Given the description of an element on the screen output the (x, y) to click on. 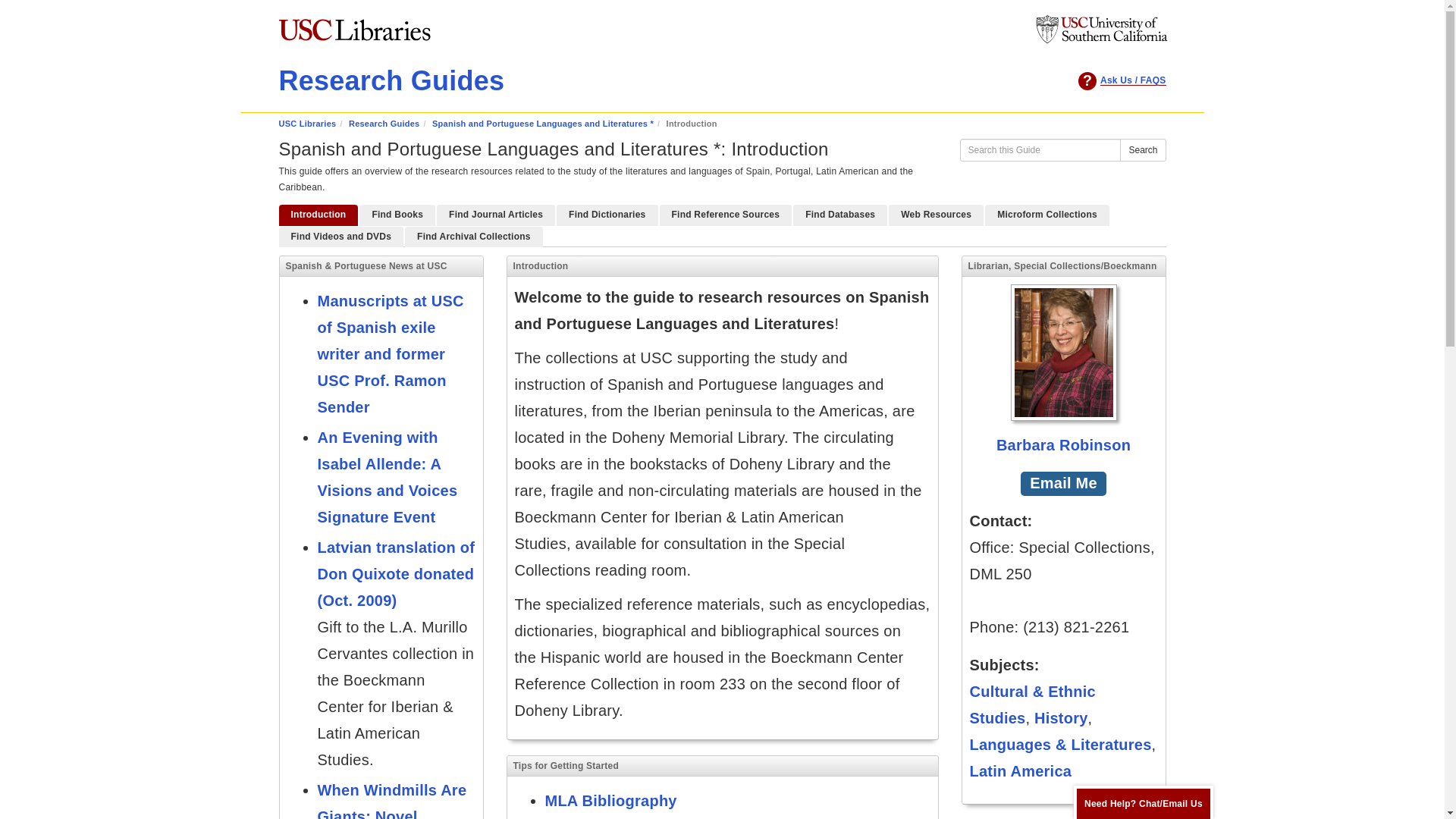
Research Guides (392, 80)
Find Journal Articles (495, 214)
Research Guides (384, 122)
Latin America (1020, 770)
Find Archival Collections (473, 236)
Find Videos and DVDs (341, 236)
Email Me (1063, 483)
Introduction (318, 214)
Microform Collections (1047, 214)
usc-logo (1100, 40)
Web Resources (936, 214)
Search (1142, 149)
usc-logo (1100, 29)
